Given the description of an element on the screen output the (x, y) to click on. 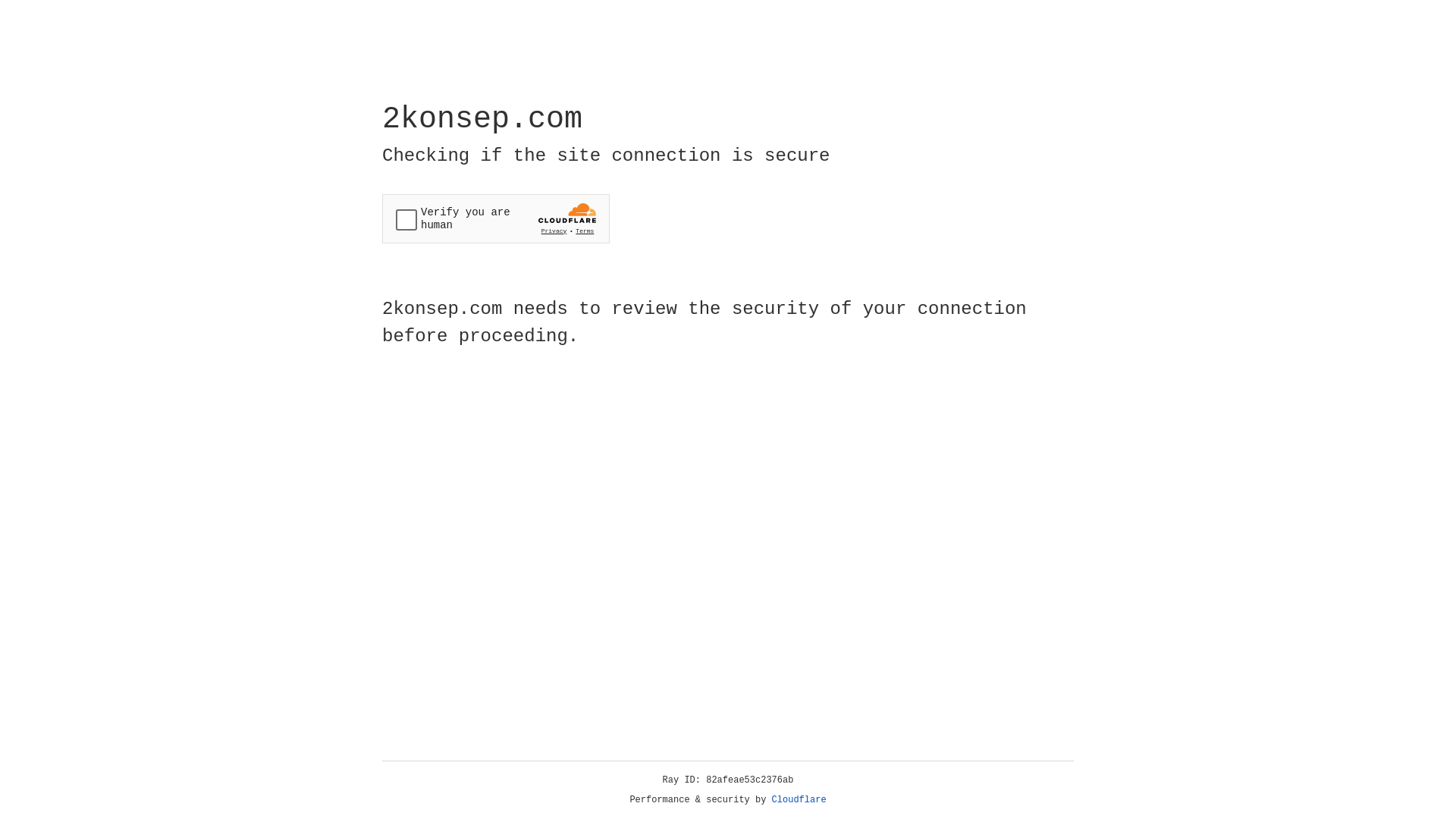
Cloudflare Element type: text (798, 799)
Widget containing a Cloudflare security challenge Element type: hover (495, 218)
